Given the description of an element on the screen output the (x, y) to click on. 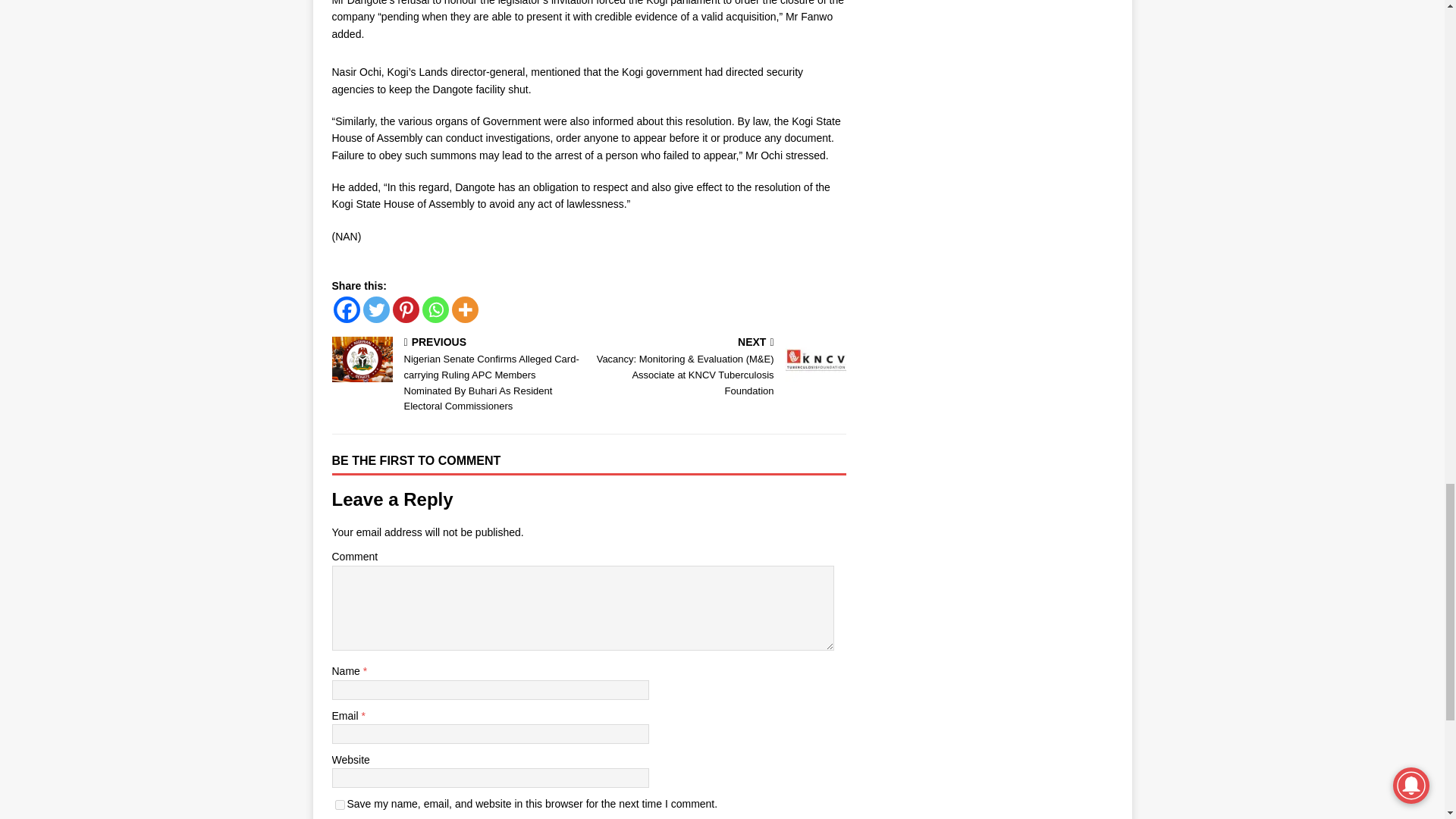
yes (339, 804)
